Given the description of an element on the screen output the (x, y) to click on. 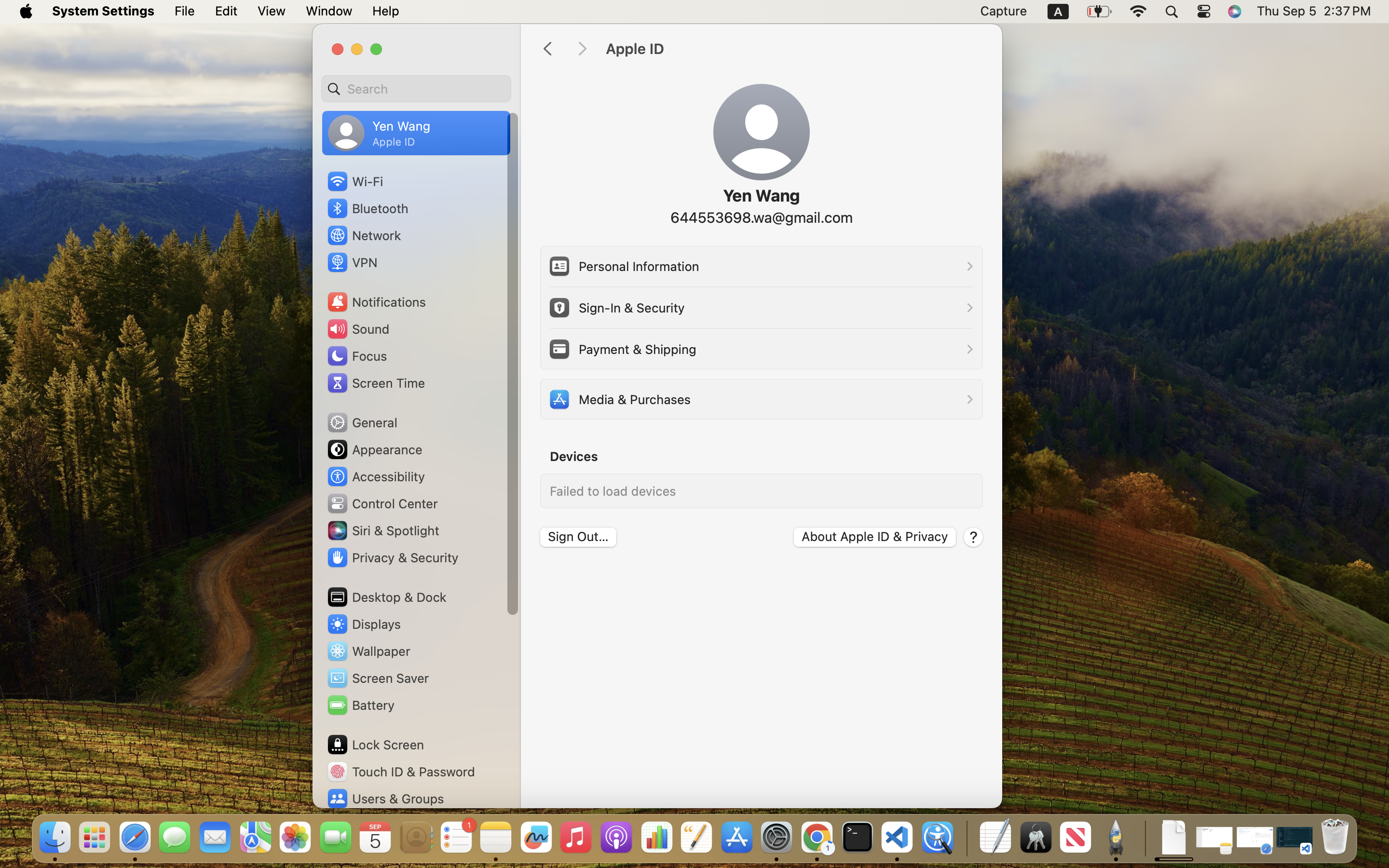
Wi‑Fi Element type: AXStaticText (354, 180)
Siri & Spotlight Element type: AXStaticText (382, 530)
Wallpaper Element type: AXStaticText (367, 650)
Privacy & Security Element type: AXStaticText (392, 557)
Control Center Element type: AXStaticText (381, 503)
